Given the description of an element on the screen output the (x, y) to click on. 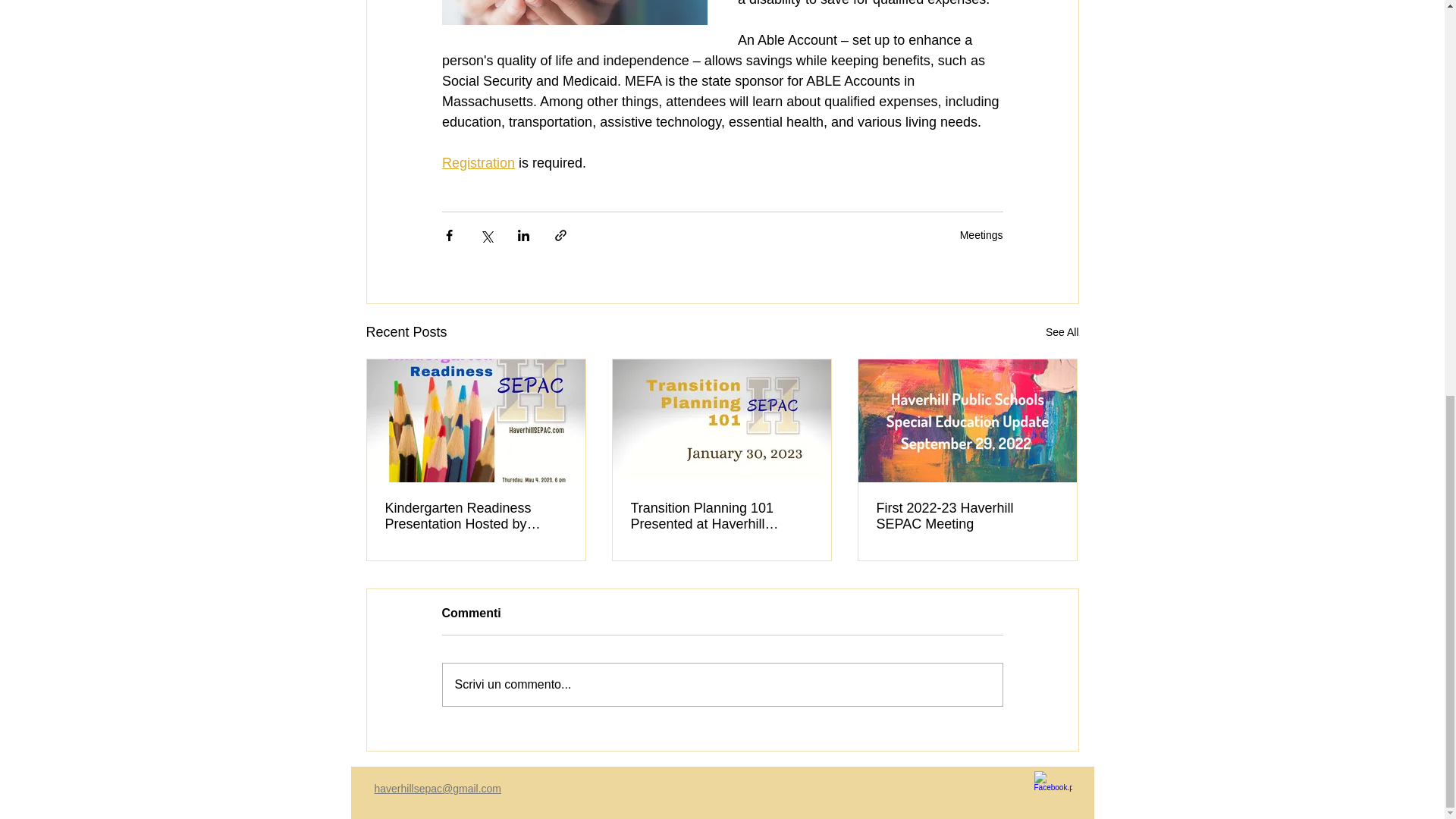
Meetings (981, 234)
Registration (477, 162)
Transition Planning 101 Presented at Haverhill SEPAC Meeting (721, 516)
See All (1061, 332)
First 2022-23 Haverhill SEPAC Meeting (967, 516)
Scrivi un commento... (722, 684)
